Given the description of an element on the screen output the (x, y) to click on. 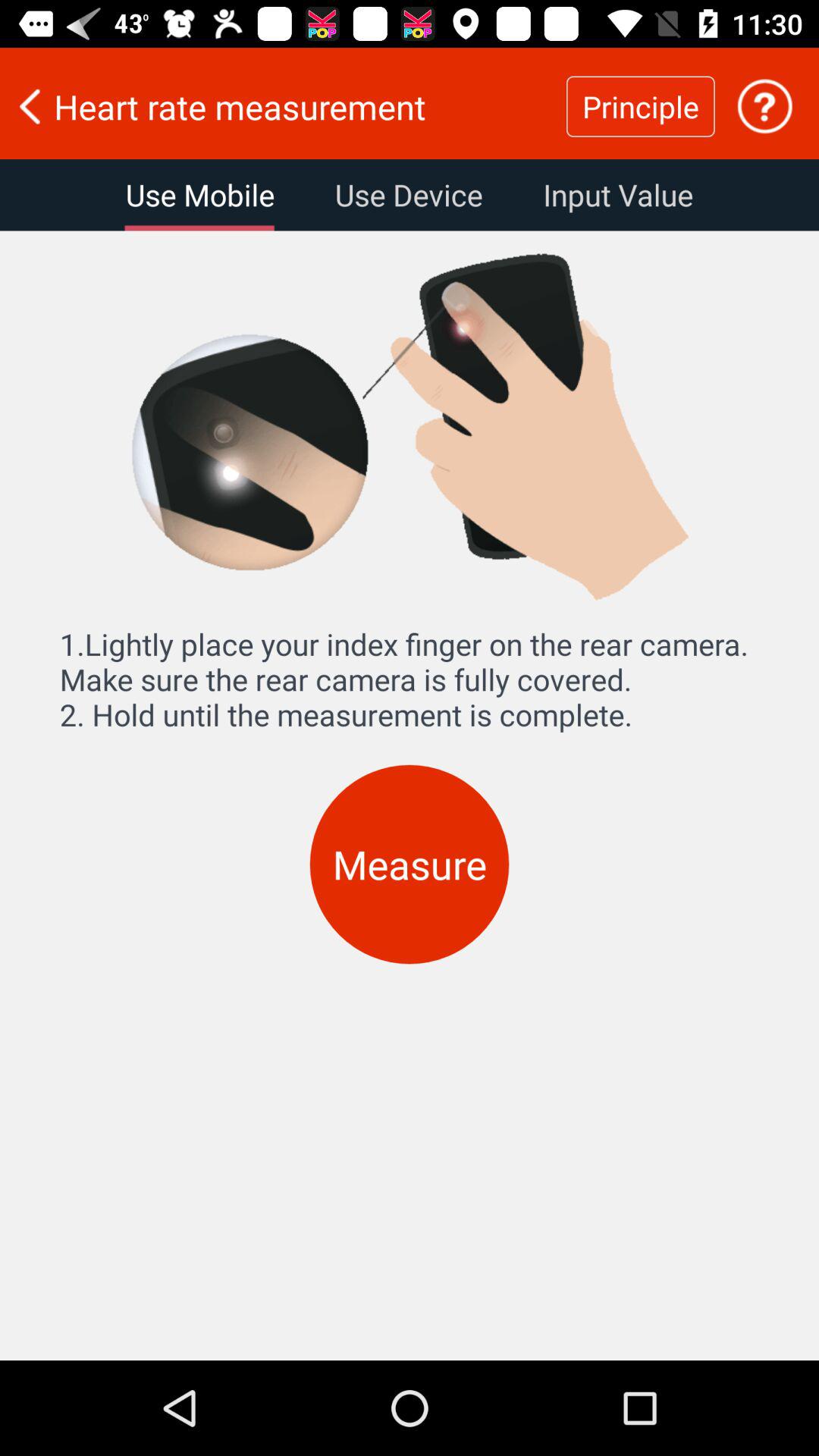
jump to the heart rate measurement item (283, 106)
